Given the description of an element on the screen output the (x, y) to click on. 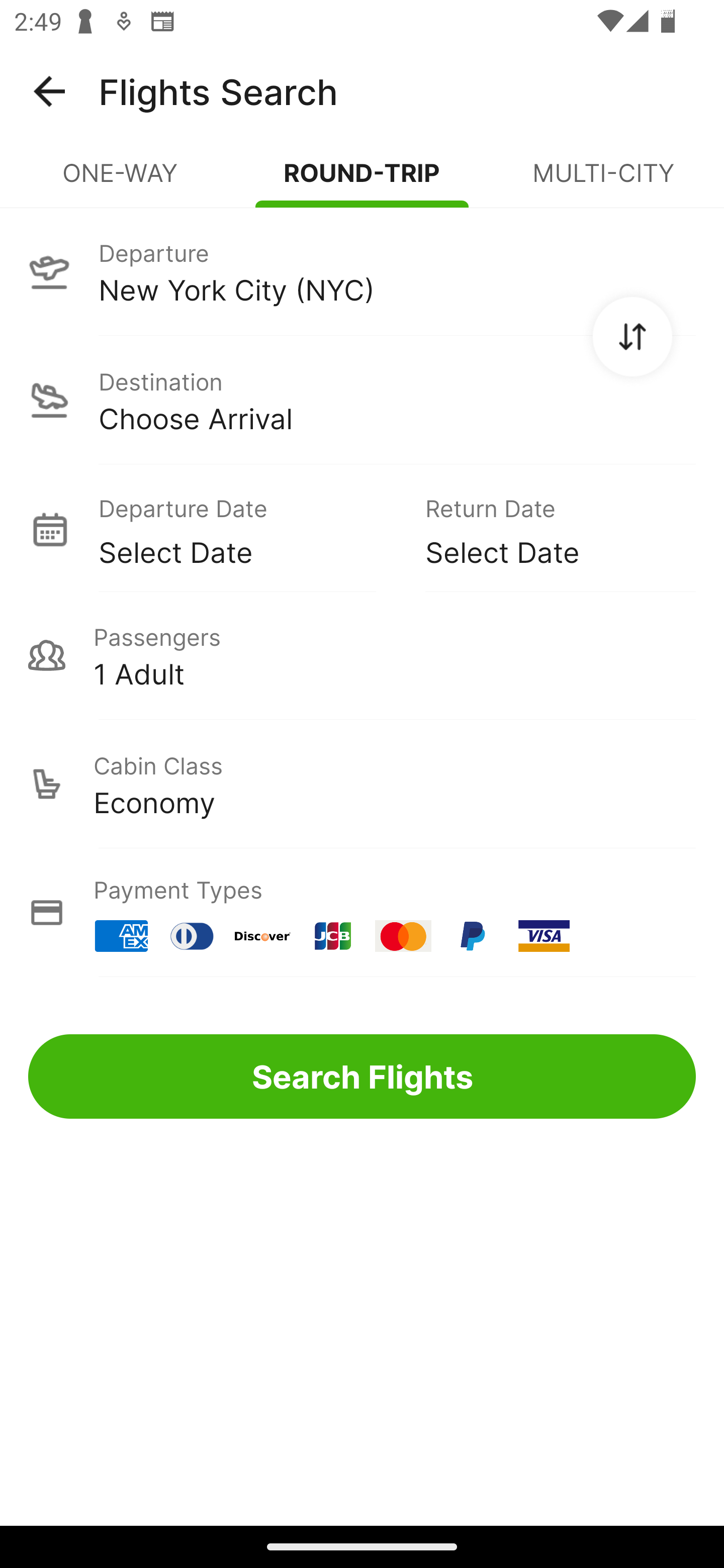
ONE-WAY (120, 180)
ROUND-TRIP (361, 180)
MULTI-CITY (603, 180)
Departure New York City (NYC) (362, 270)
Destination Choose Arrival (362, 400)
Departure Date Select Date (247, 528)
Return Date Select Date (546, 528)
Passengers 1 Adult (362, 655)
Cabin Class Economy (362, 783)
Payment Types (362, 912)
Search Flights (361, 1075)
